Given the description of an element on the screen output the (x, y) to click on. 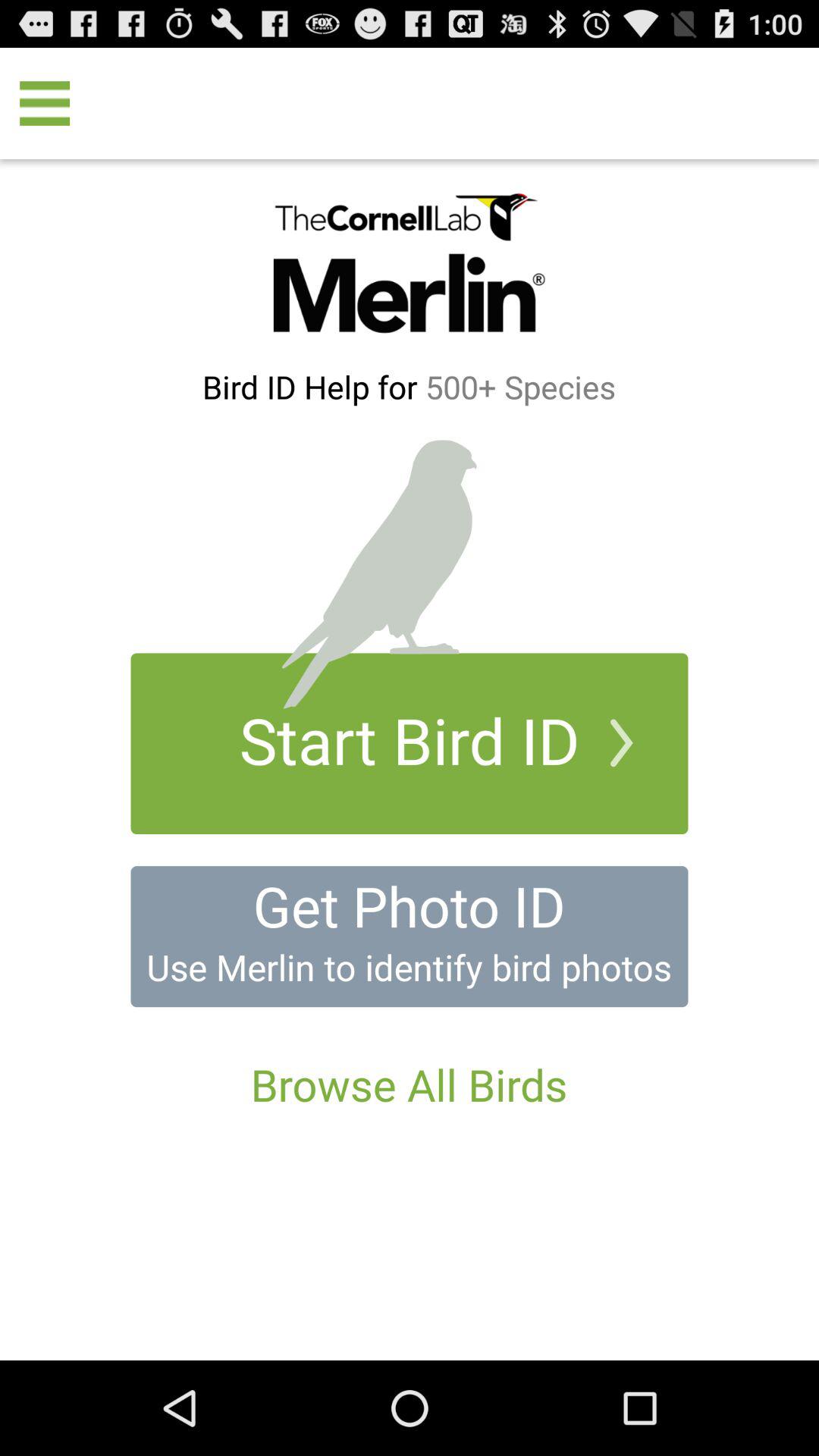
swipe to the get photo id item (409, 905)
